Given the description of an element on the screen output the (x, y) to click on. 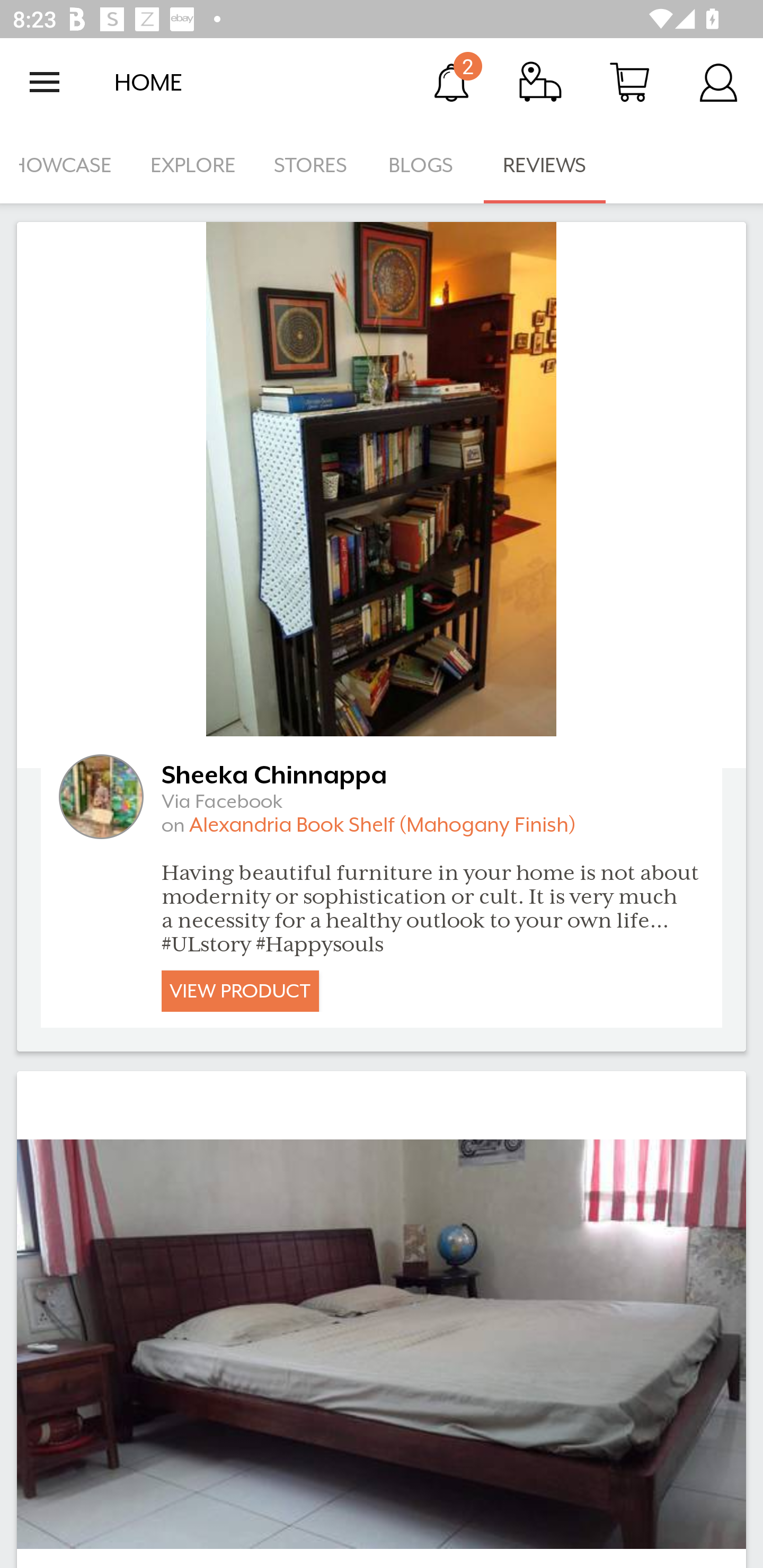
Open navigation drawer (44, 82)
Notification (450, 81)
Track Order (540, 81)
Cart (629, 81)
Account Details (718, 81)
SHOWCASE (65, 165)
EXPLORE (192, 165)
STORES (311, 165)
BLOGS (426, 165)
REVIEWS (544, 165)
VIEW PRODUCT (239, 990)
